Given the description of an element on the screen output the (x, y) to click on. 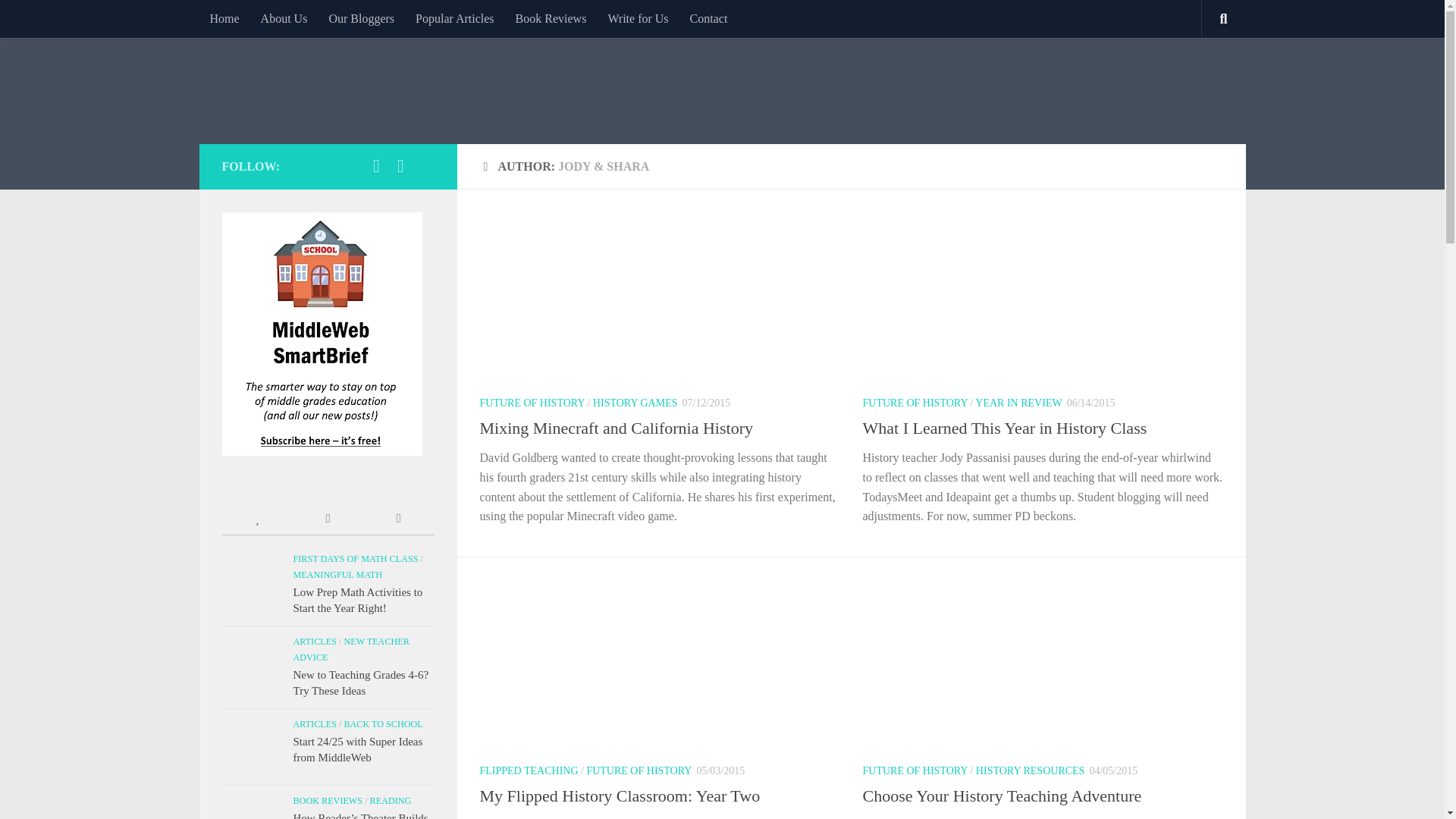
FLIPPED TEACHING (528, 770)
HISTORY RESOURCES (1029, 770)
FUTURE OF HISTORY (638, 770)
HISTORY GAMES (635, 402)
Write for Us (637, 18)
FUTURE OF HISTORY (531, 402)
Contact (708, 18)
What I Learned This Year in History Class (1005, 427)
Skip to content (59, 20)
FUTURE OF HISTORY (915, 402)
